Given the description of an element on the screen output the (x, y) to click on. 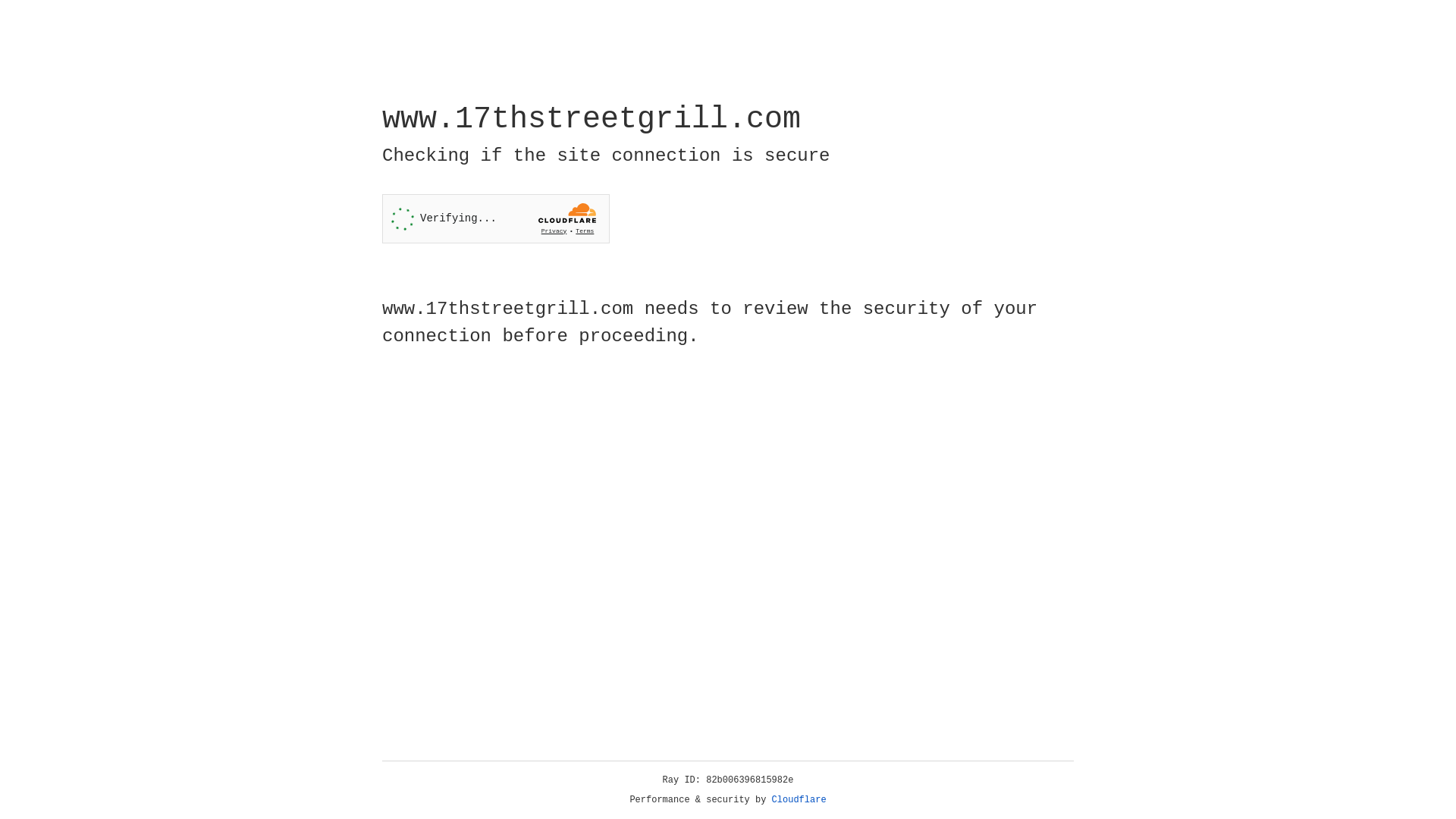
Cloudflare Element type: text (798, 799)
Widget containing a Cloudflare security challenge Element type: hover (495, 218)
